Given the description of an element on the screen output the (x, y) to click on. 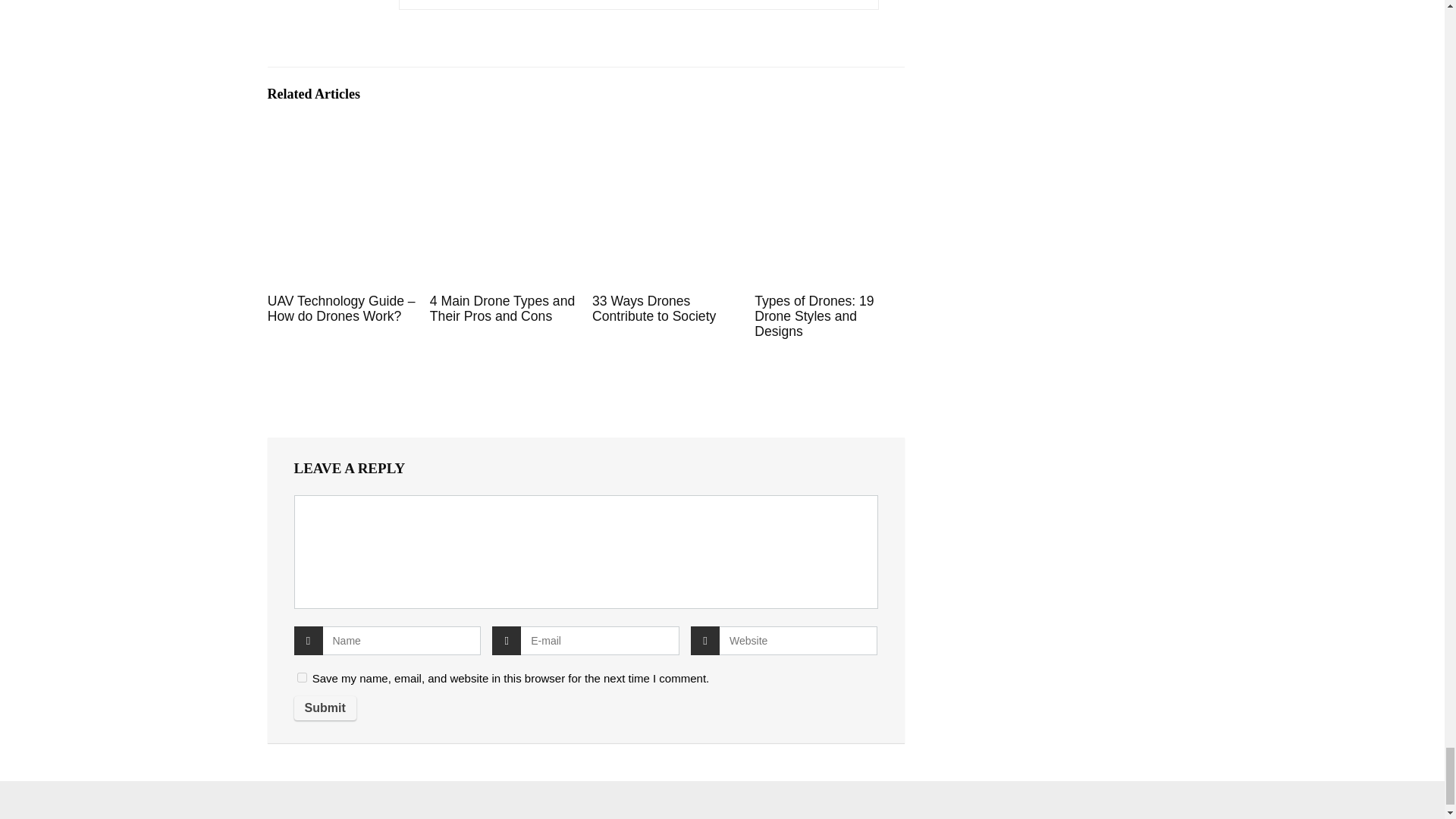
yes (302, 677)
Submit (325, 708)
